Given the description of an element on the screen output the (x, y) to click on. 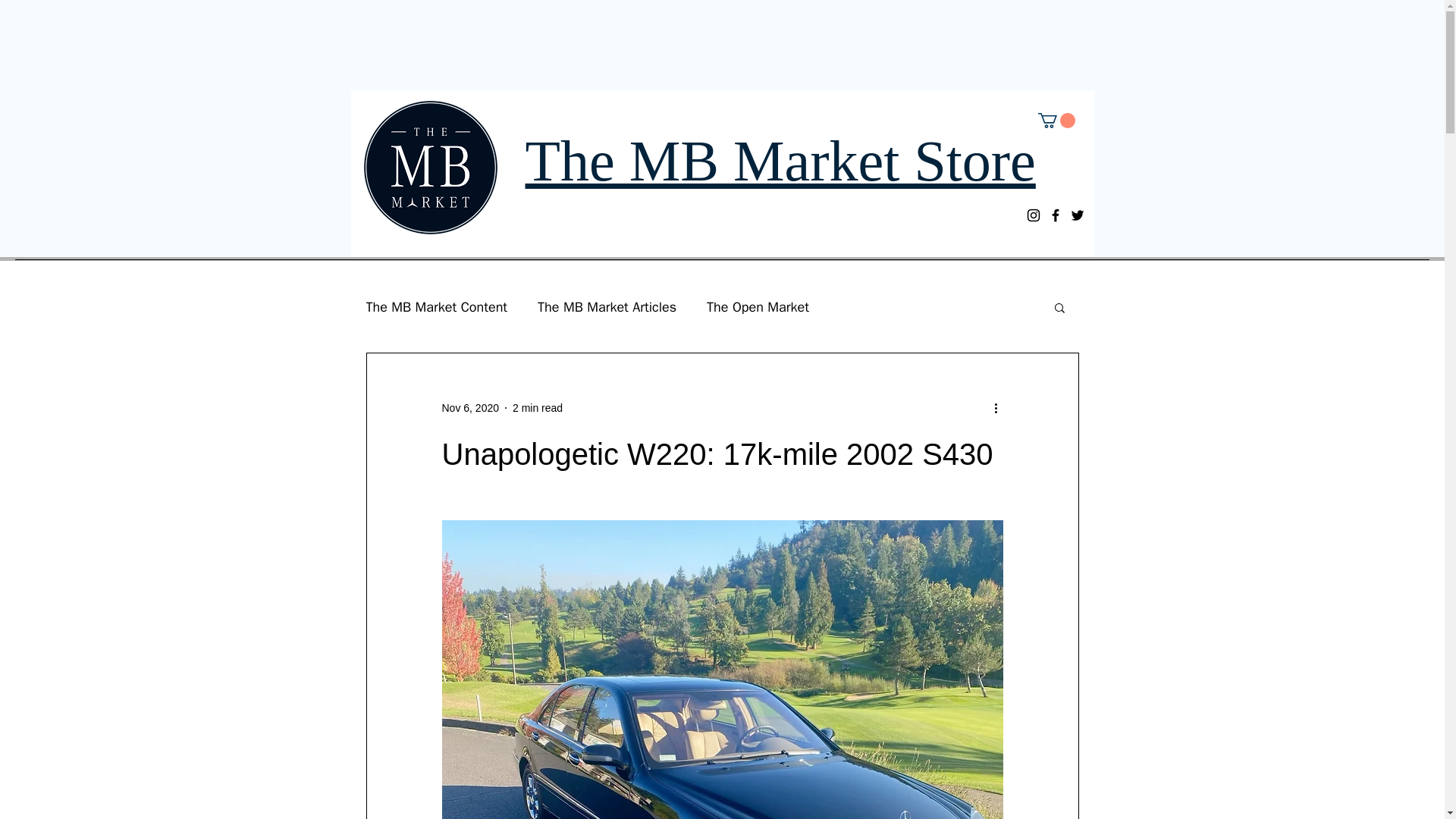
The MB Market Articles (607, 307)
Nov 6, 2020 (470, 408)
The MB Market Content (435, 307)
2 min read (537, 408)
The Open Market (757, 307)
